Given the description of an element on the screen output the (x, y) to click on. 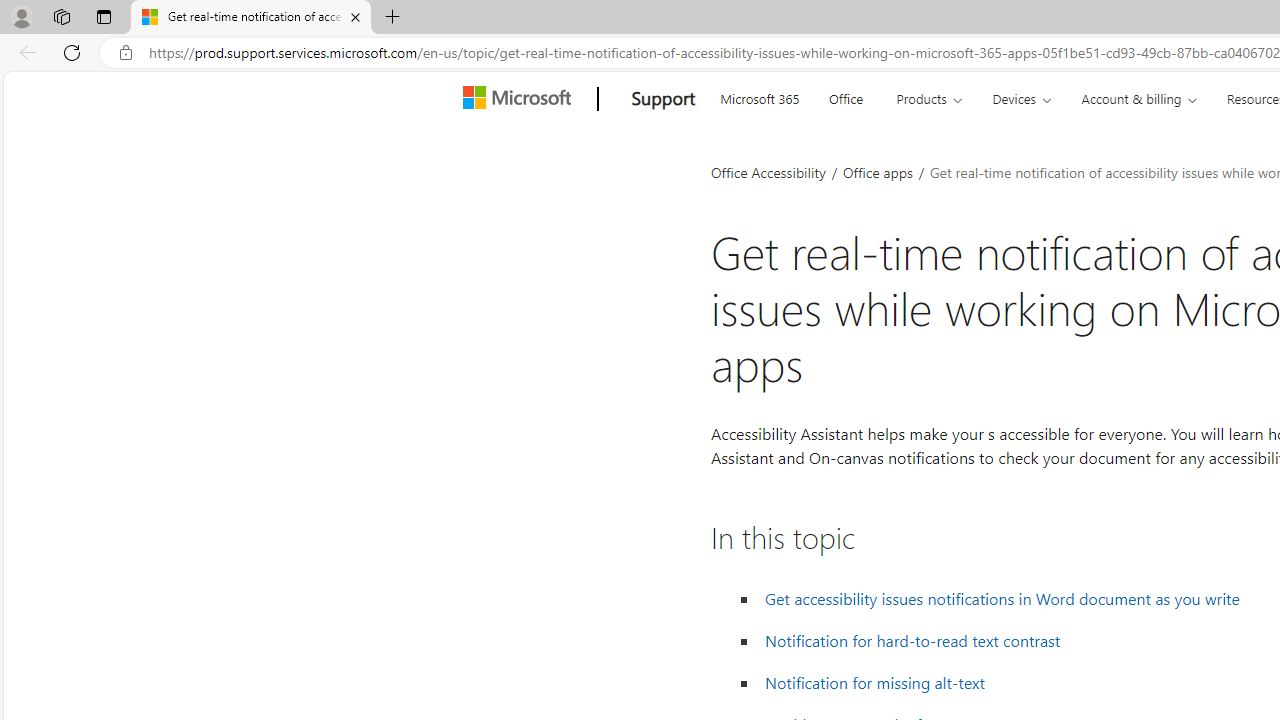
Support (663, 99)
Microsoft (520, 99)
Office apps  (879, 172)
Office (845, 96)
Microsoft 365 (759, 96)
 Notification for hard-to-read text contrast (913, 641)
New Tab (392, 17)
Office Accessibility (767, 172)
